Given the description of an element on the screen output the (x, y) to click on. 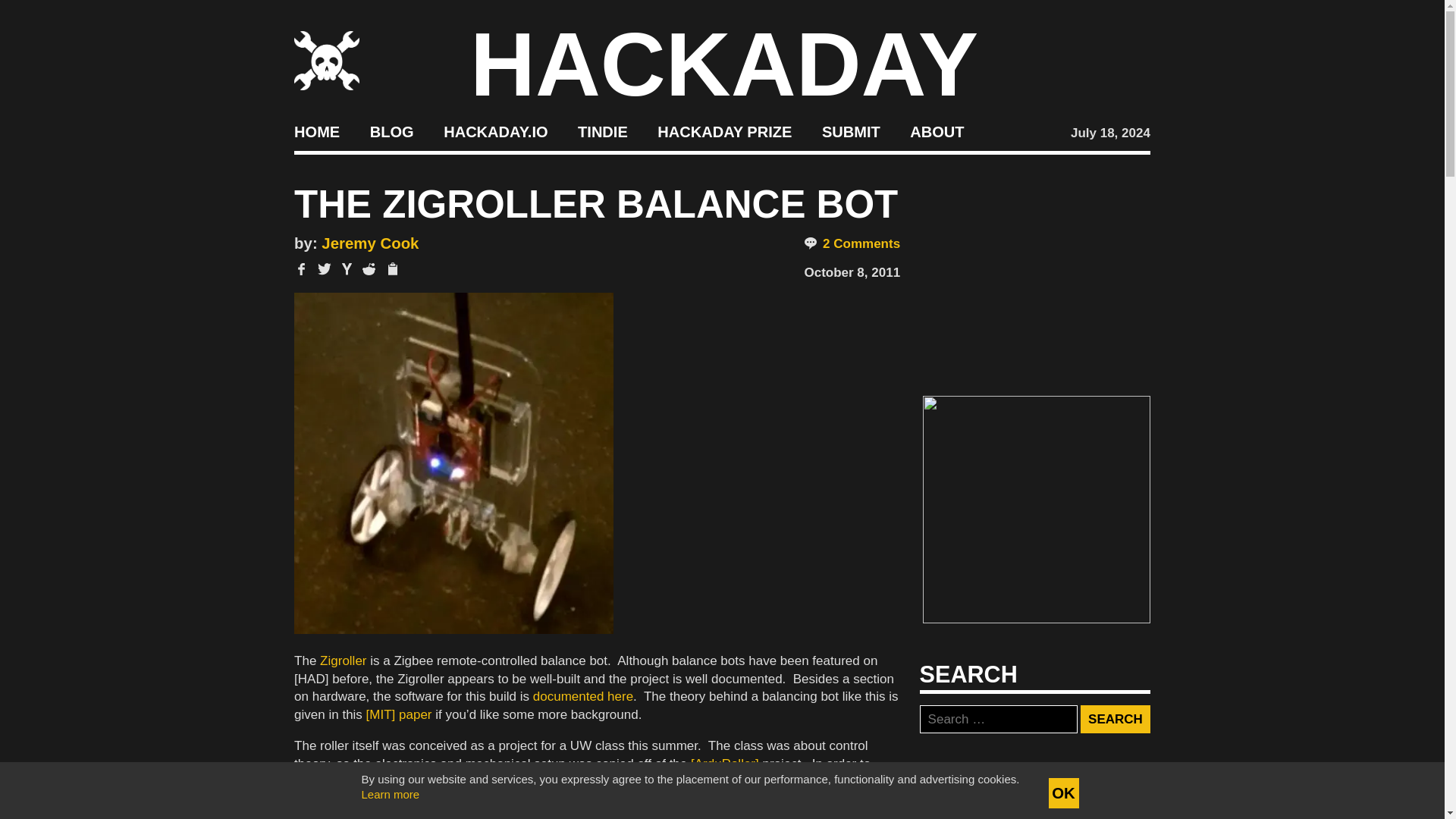
2 Comments (851, 243)
BLOG (391, 131)
Jeremy Cook (370, 243)
Share on Hacker News (347, 268)
SUBMIT (851, 131)
Share on Facebook (301, 268)
Copy title or shortlink (391, 269)
Share on Twitter (324, 268)
HACKADAY.IO (495, 131)
Build Something that Matters (725, 131)
HACKADAY (724, 63)
HACKADAY PRIZE (725, 131)
Search (1115, 719)
October 8, 2011 - 2:00 pm (851, 272)
Share on Reddit (369, 268)
